Given the description of an element on the screen output the (x, y) to click on. 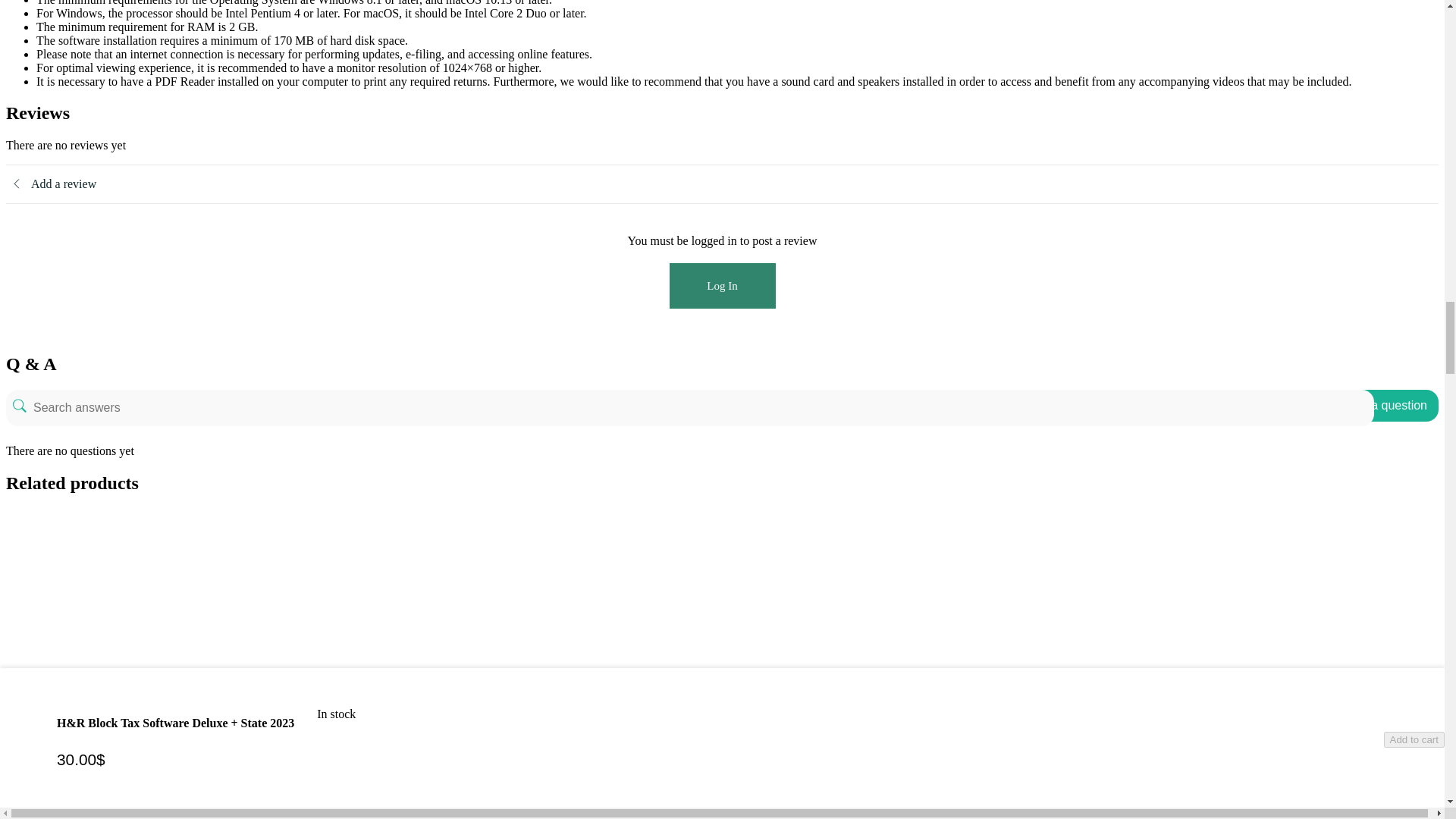
1 (122, 747)
